Given the description of an element on the screen output the (x, y) to click on. 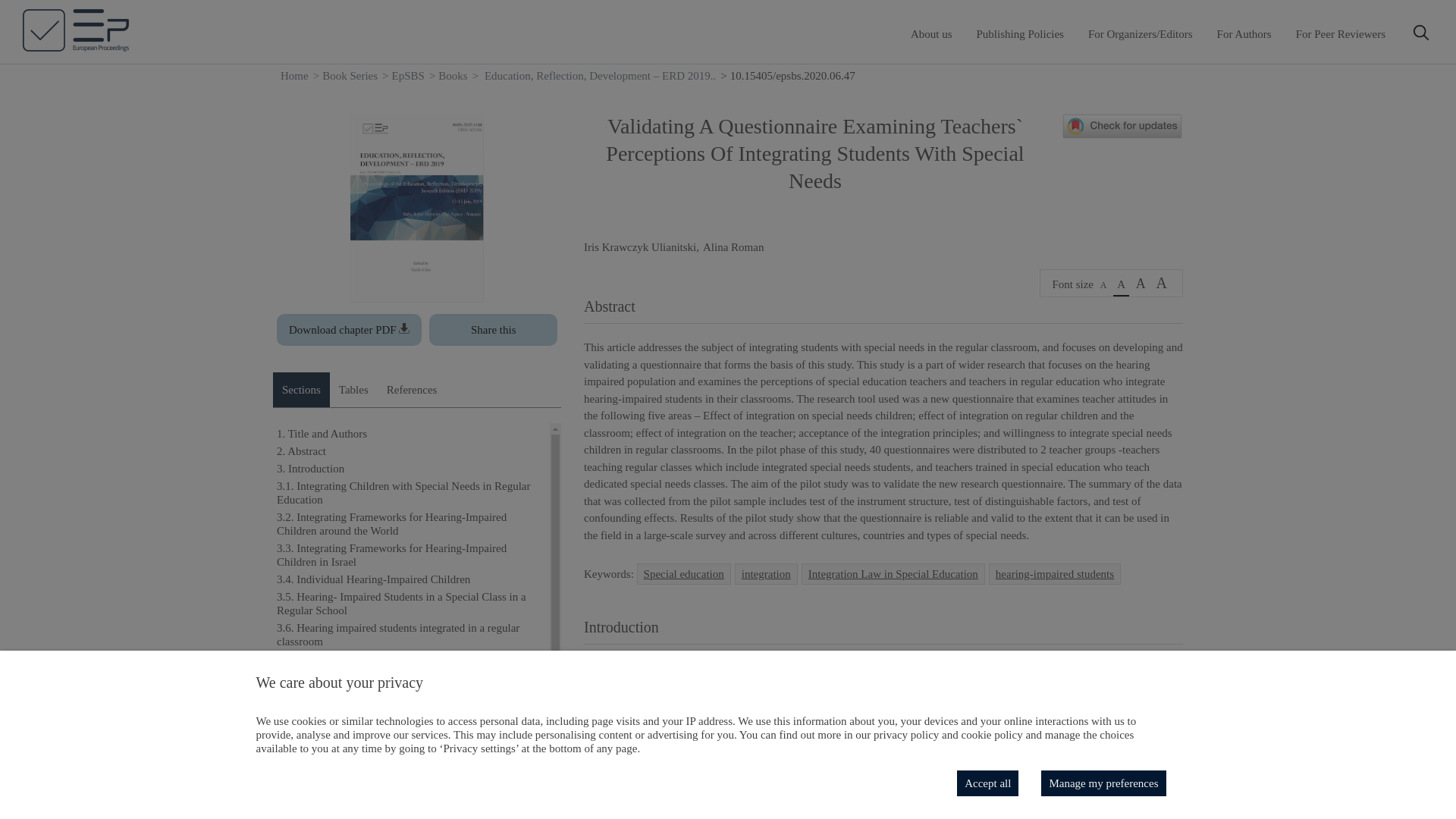
References (411, 389)
Download chapter PDF (349, 329)
Tables (353, 389)
Iris Krawczyk Ulianitski (639, 246)
Integration Law in Special Education (893, 572)
Books (452, 75)
For Authors (1244, 33)
Publishing Policies (1020, 33)
About us (931, 33)
For Peer Reviewers (1340, 33)
